Given the description of an element on the screen output the (x, y) to click on. 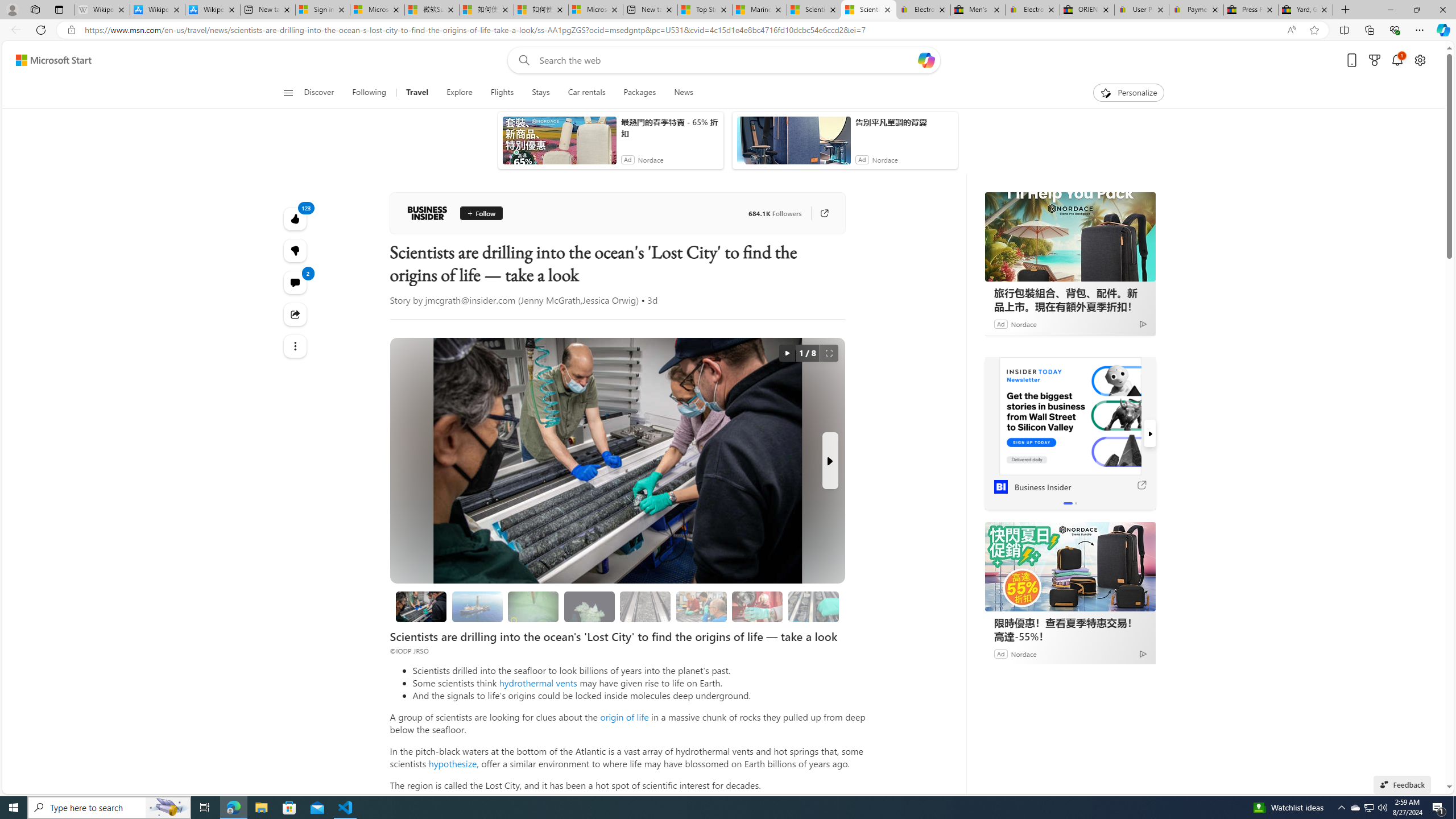
Class: at-item (295, 345)
The Lost City could hold clues to the origin of life. (589, 606)
